Given the description of an element on the screen output the (x, y) to click on. 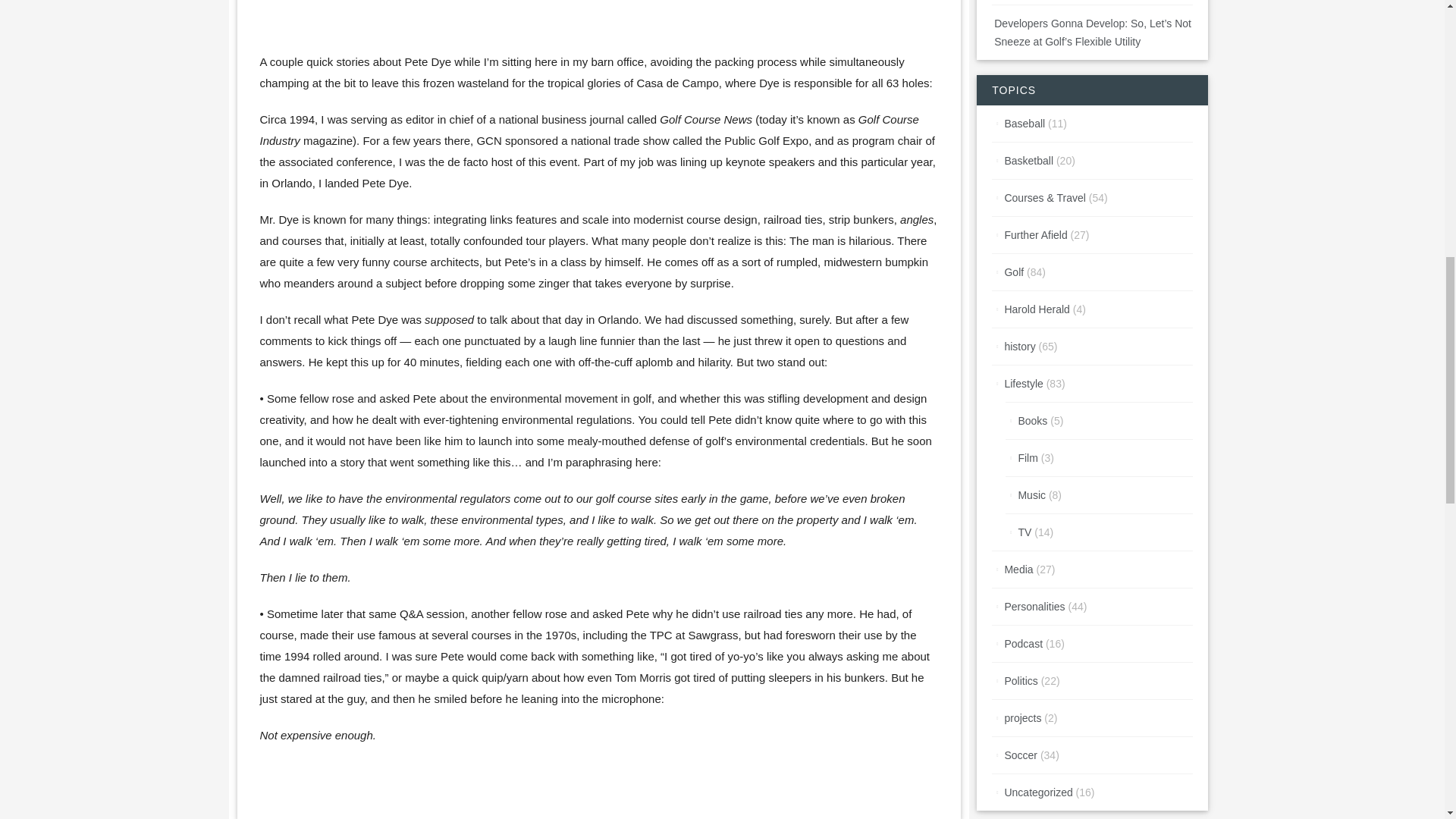
Harold Herald (1036, 309)
Basketball (1028, 160)
Further Afield (1035, 234)
Lifestyle (1023, 383)
Music (1031, 494)
TV (1023, 532)
Baseball (1024, 123)
Golf (1013, 272)
Books (1031, 420)
history (1019, 346)
